Given the description of an element on the screen output the (x, y) to click on. 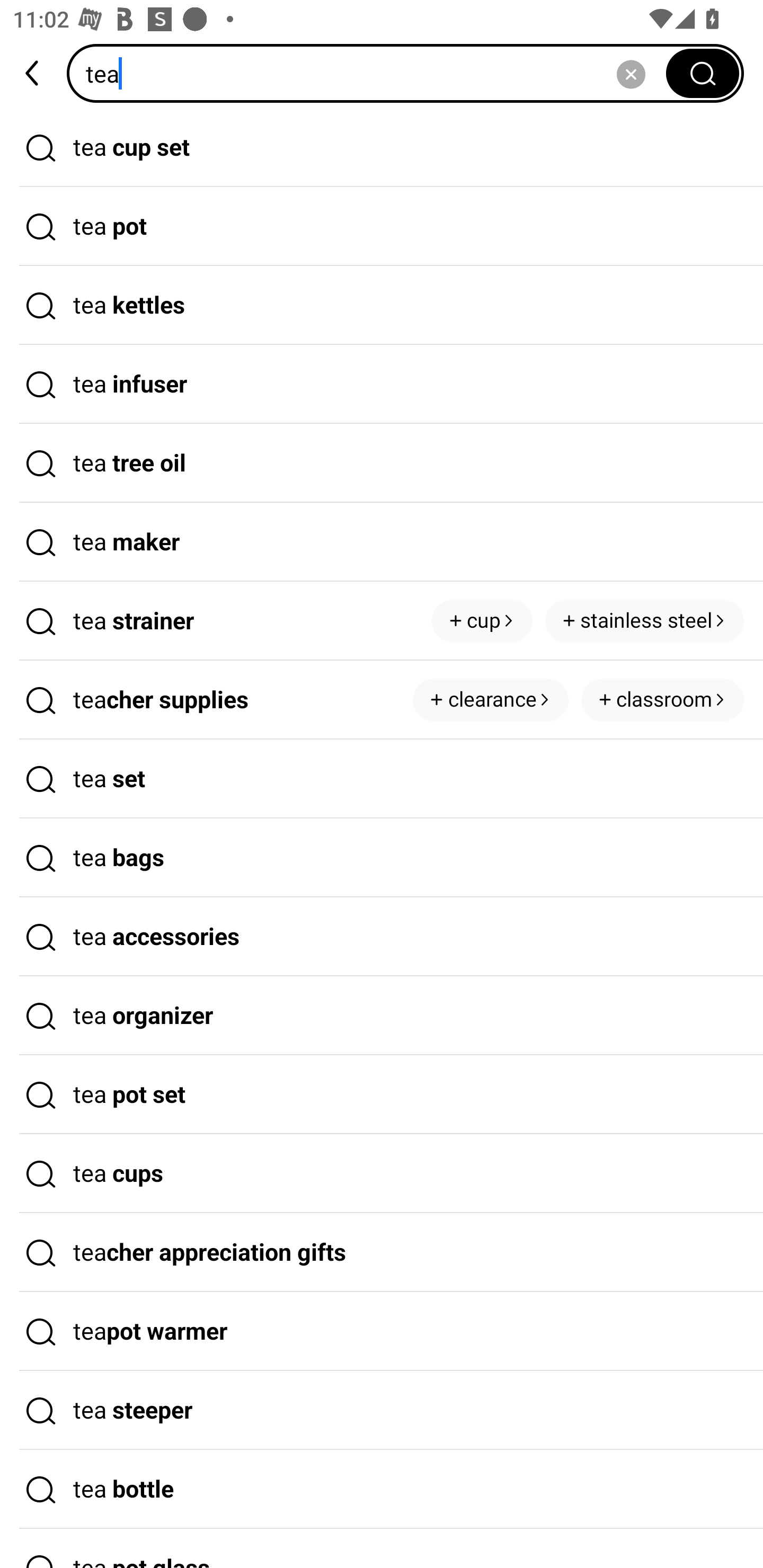
back (33, 72)
tea (372, 73)
Delete search history (630, 73)
tea cup set (381, 147)
tea pot (381, 226)
tea kettles (381, 305)
tea infuser (381, 383)
tea tree oil (381, 463)
tea maker (381, 542)
tea strainer cup stainless steel (381, 620)
cup (481, 620)
stainless steel (644, 620)
teacher supplies clearance classroom (381, 700)
clearance (490, 699)
classroom (662, 699)
tea set (381, 779)
tea bags (381, 857)
tea accessories (381, 936)
tea organizer (381, 1015)
tea pot set (381, 1094)
tea cups (381, 1173)
teacher appreciation gifts (381, 1252)
teapot warmer (381, 1331)
tea steeper (381, 1410)
tea bottle (381, 1489)
